Given the description of an element on the screen output the (x, y) to click on. 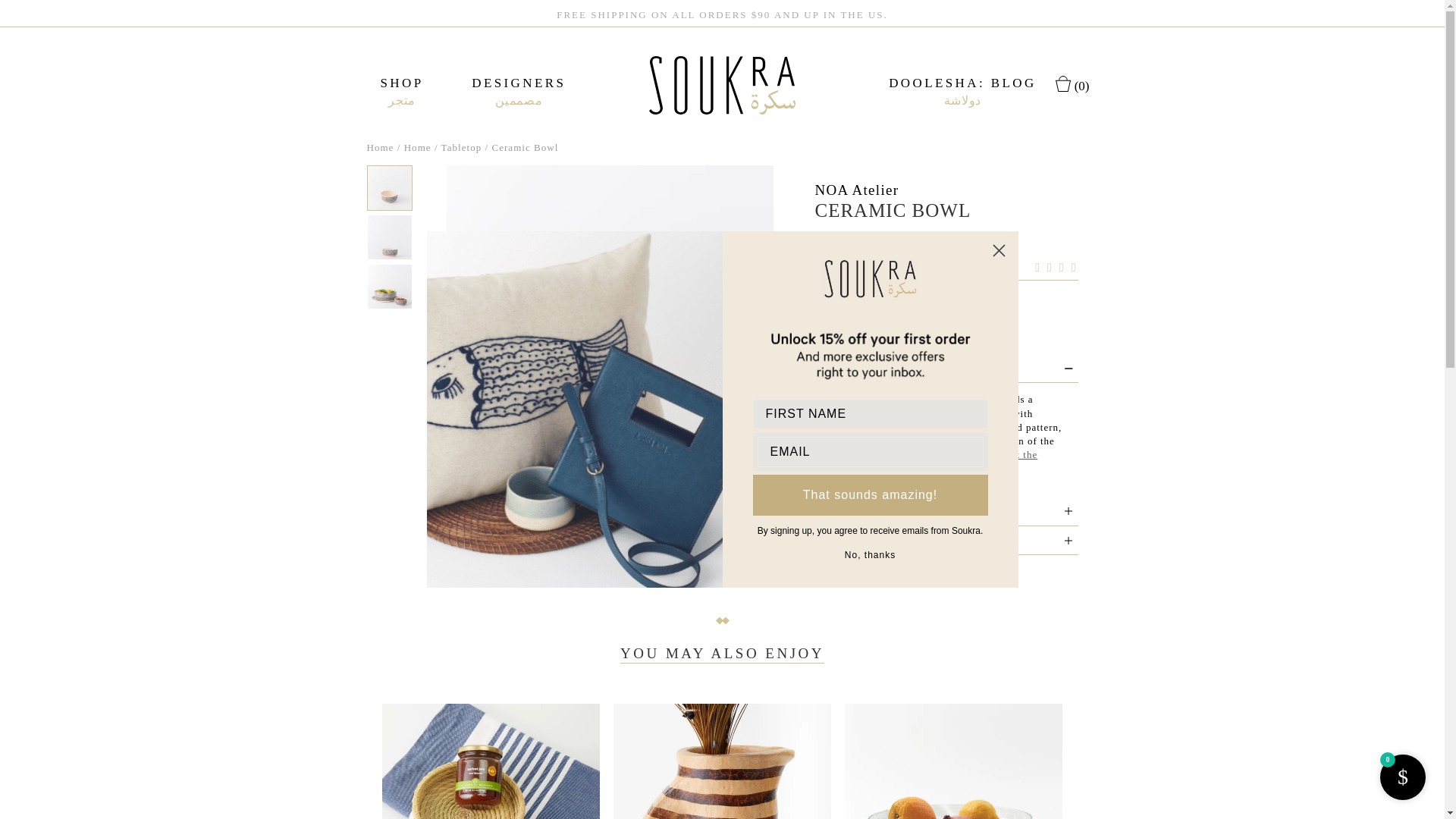
Close dialog 2 (998, 250)
View your shopping cart (1072, 82)
